Given the description of an element on the screen output the (x, y) to click on. 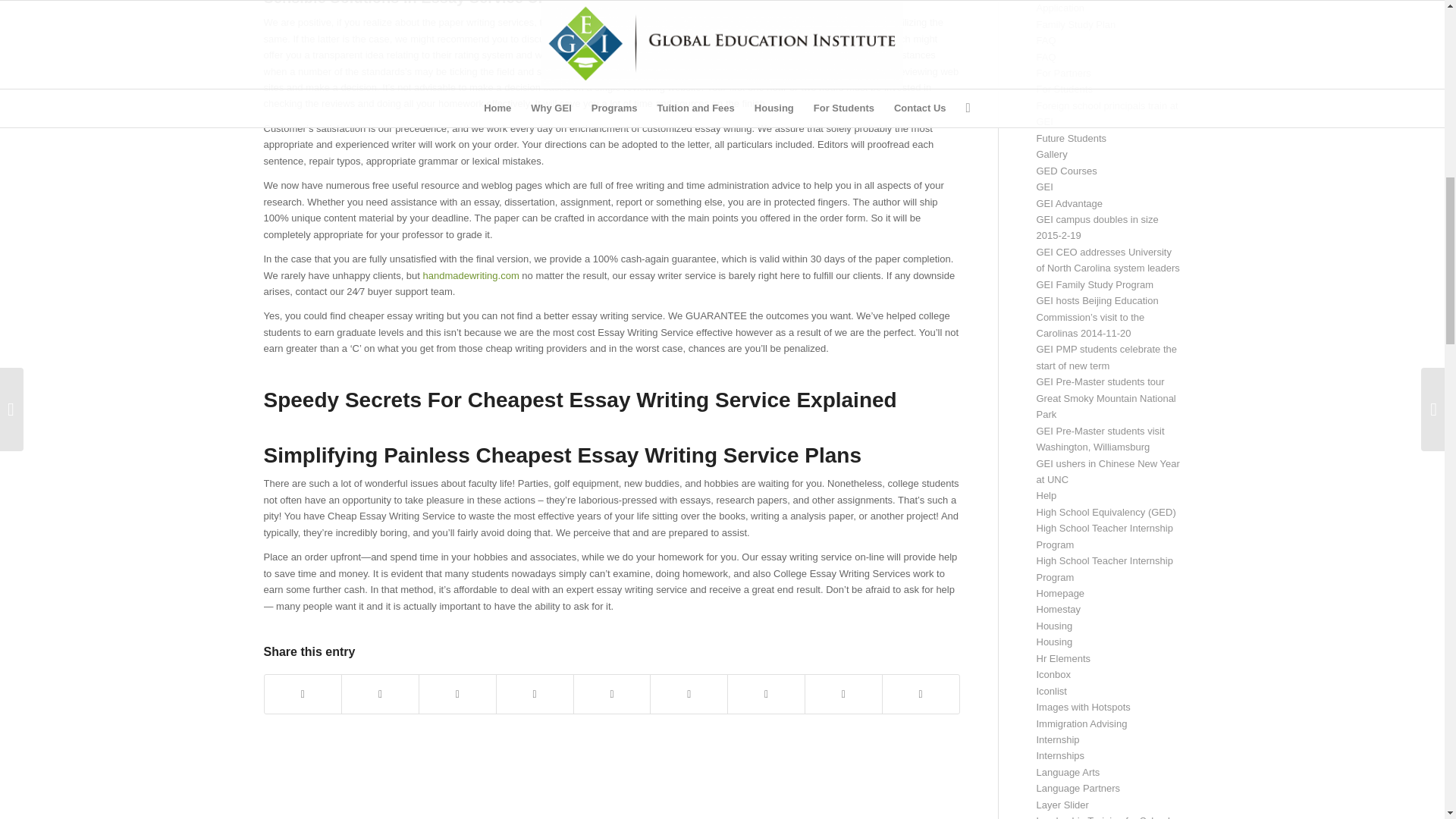
handmadewriting.com (471, 275)
